Given the description of an element on the screen output the (x, y) to click on. 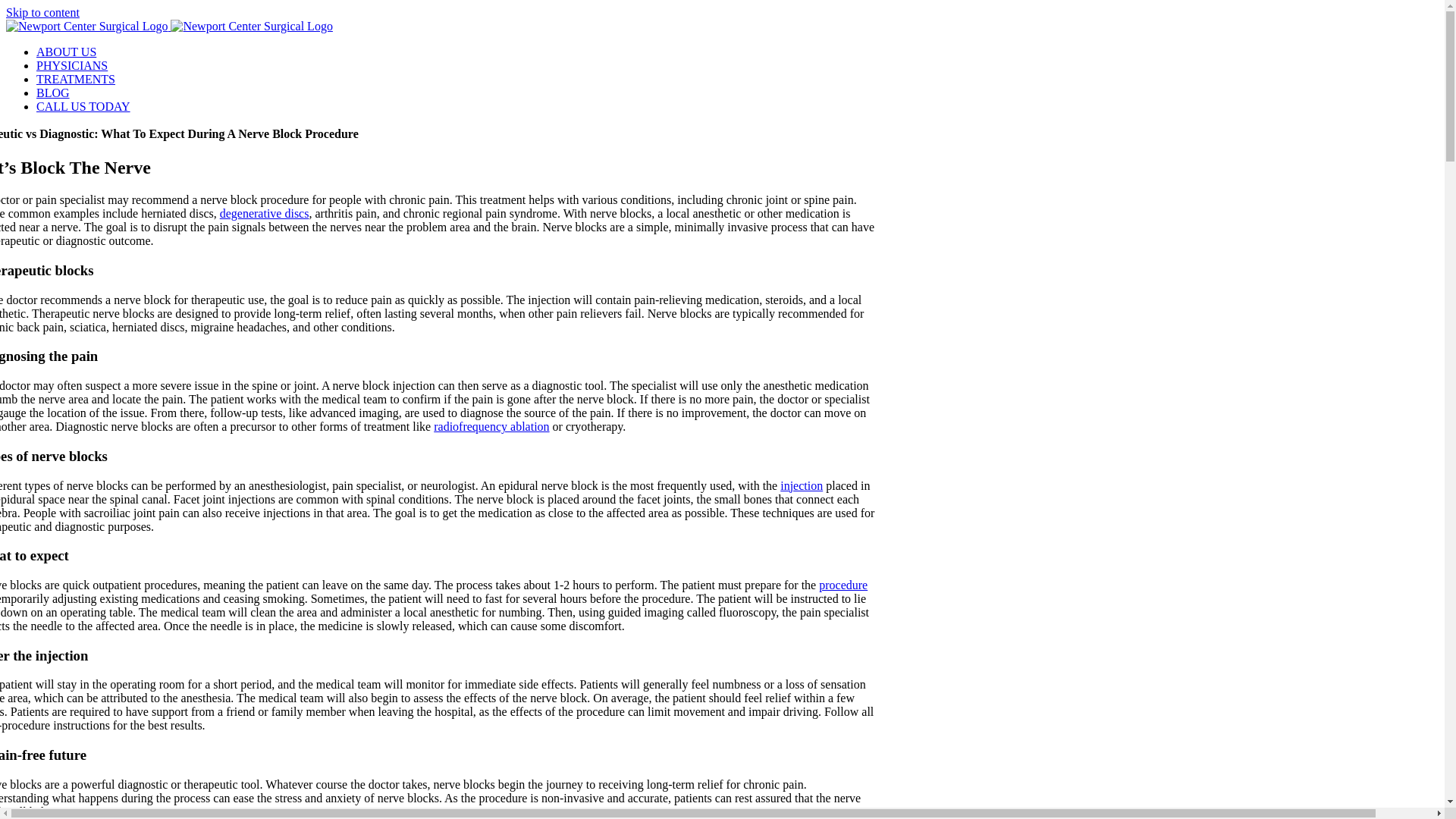
procedure (842, 584)
ABOUT US (66, 51)
PHYSICIANS (71, 65)
Skip to content (42, 11)
degenerative discs (263, 213)
CALL US TODAY (83, 106)
radiofrequency ablation (490, 426)
BLOG (52, 92)
injection (801, 485)
TREATMENTS (75, 78)
